Given the description of an element on the screen output the (x, y) to click on. 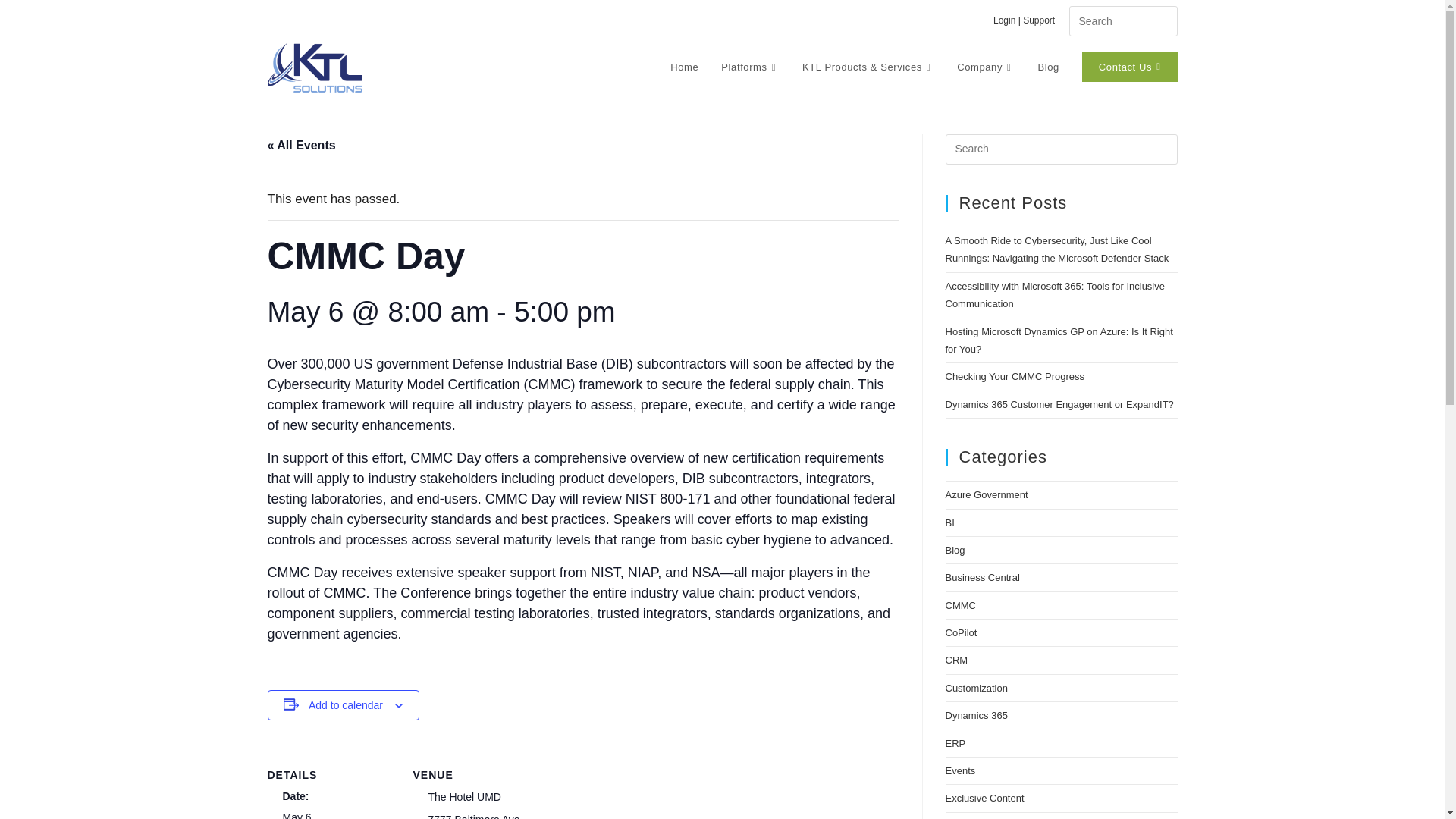
Home (684, 67)
Support (1044, 20)
Company (985, 67)
Google maps iframe displaying the address to The Hotel UMD (637, 794)
Contact Us (1129, 67)
Platforms (750, 67)
2024-05-06 (296, 815)
Login (1003, 20)
